Given the description of an element on the screen output the (x, y) to click on. 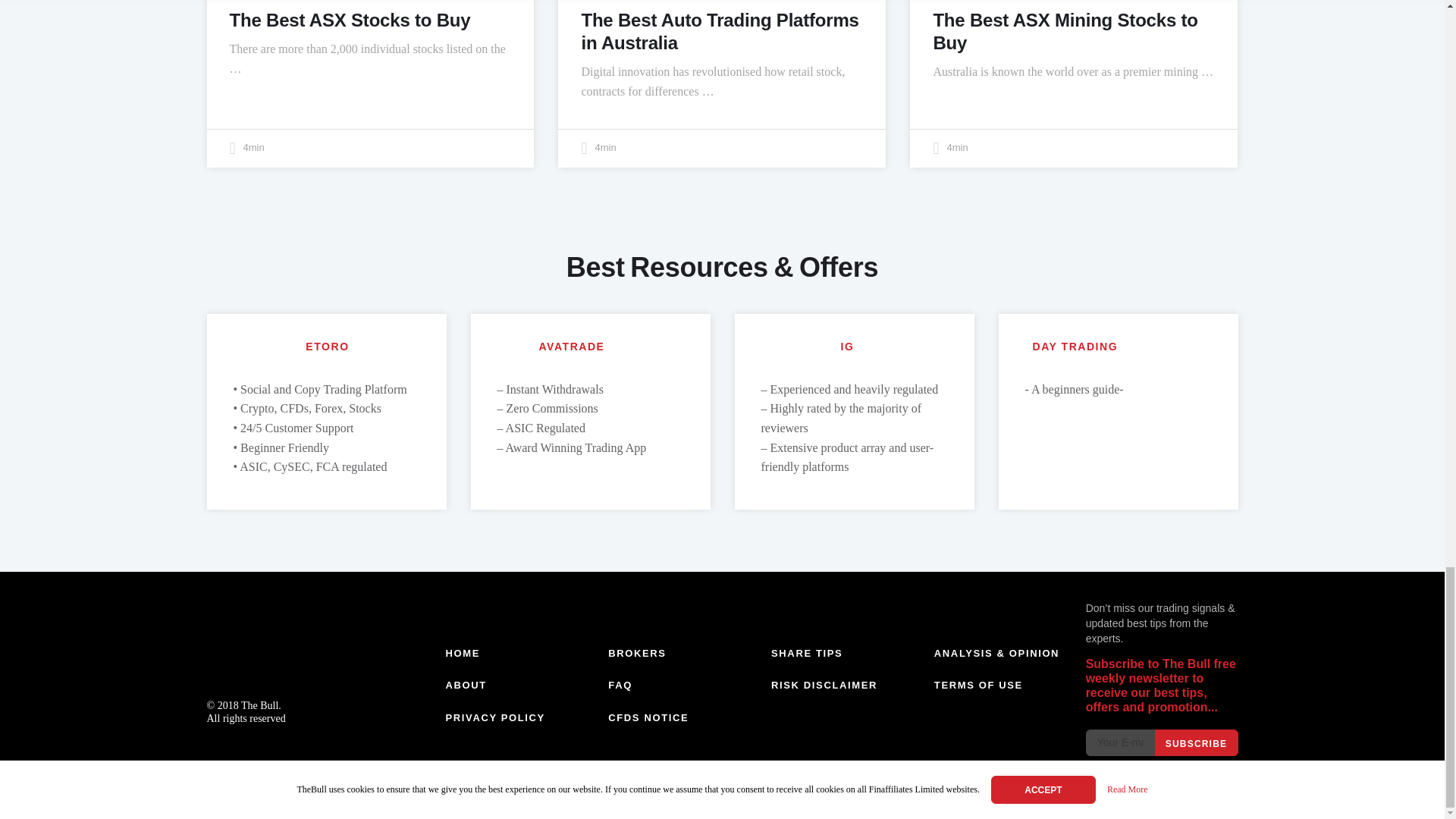
The Best Auto Trading Platforms in Australia (719, 31)
Subscribe (1195, 742)
The Best ASX Stocks to Buy (349, 19)
